Given the description of an element on the screen output the (x, y) to click on. 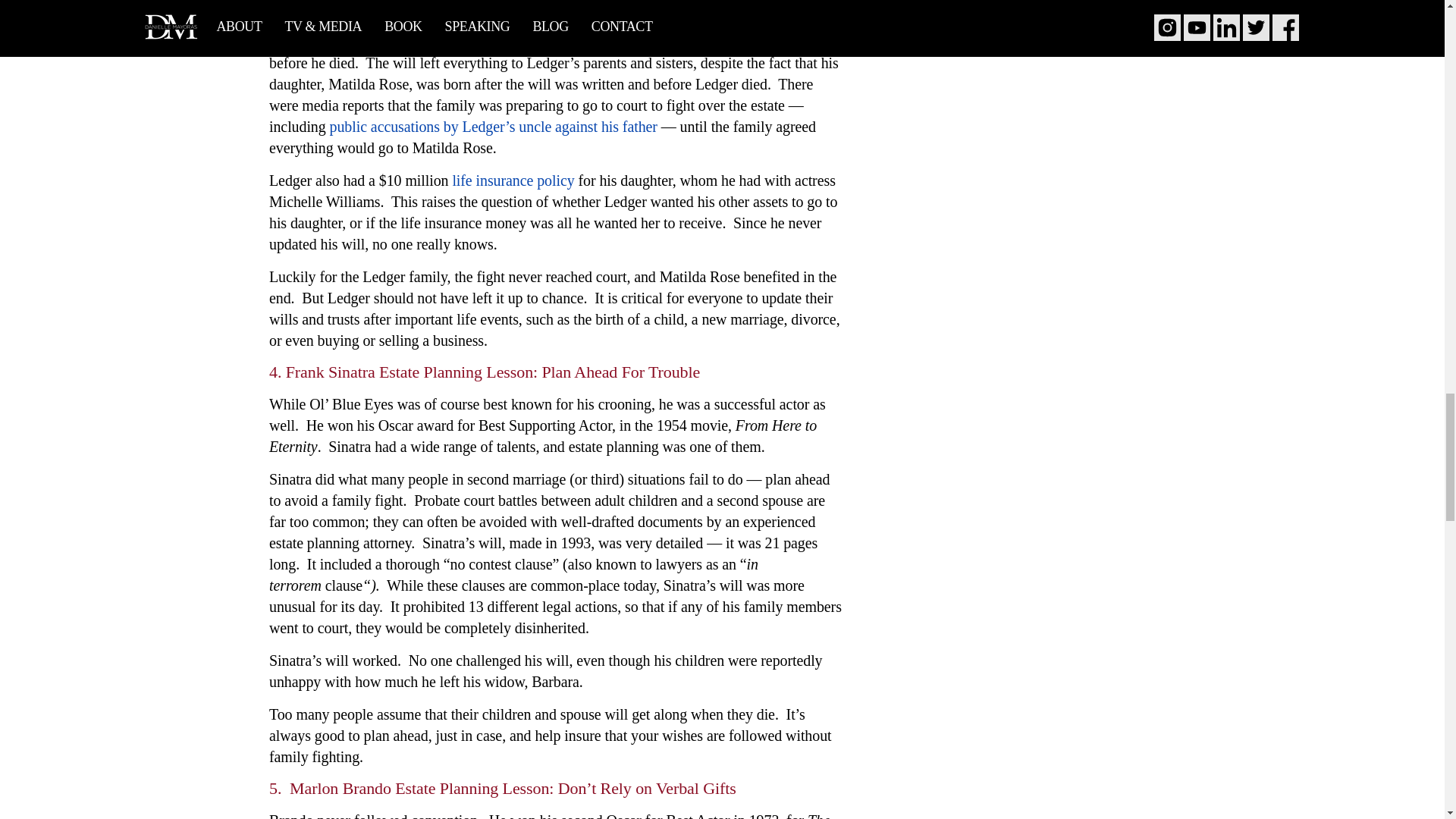
life insurance policy (512, 179)
